Given the description of an element on the screen output the (x, y) to click on. 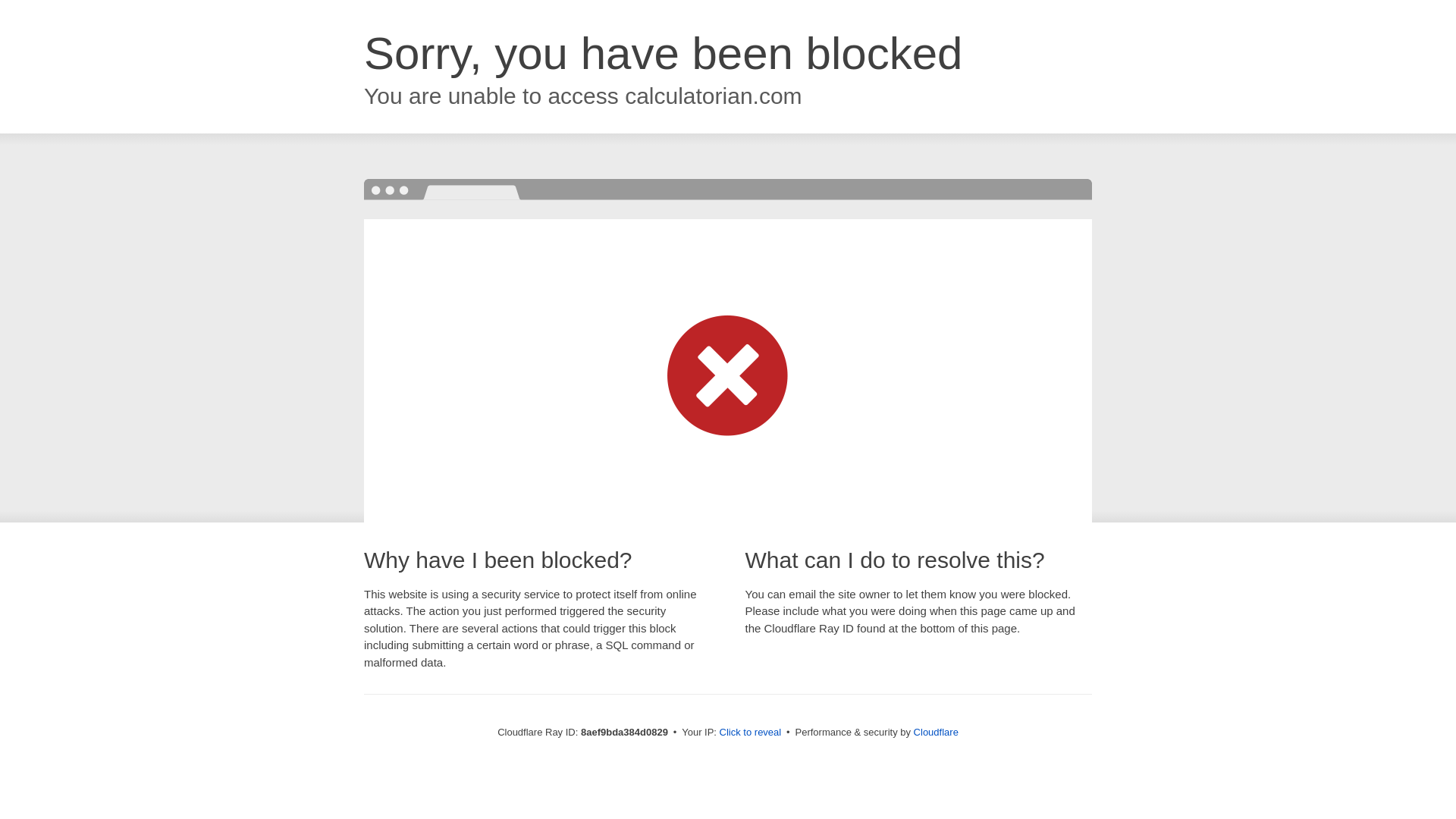
Cloudflare (936, 731)
Click to reveal (750, 732)
